Given the description of an element on the screen output the (x, y) to click on. 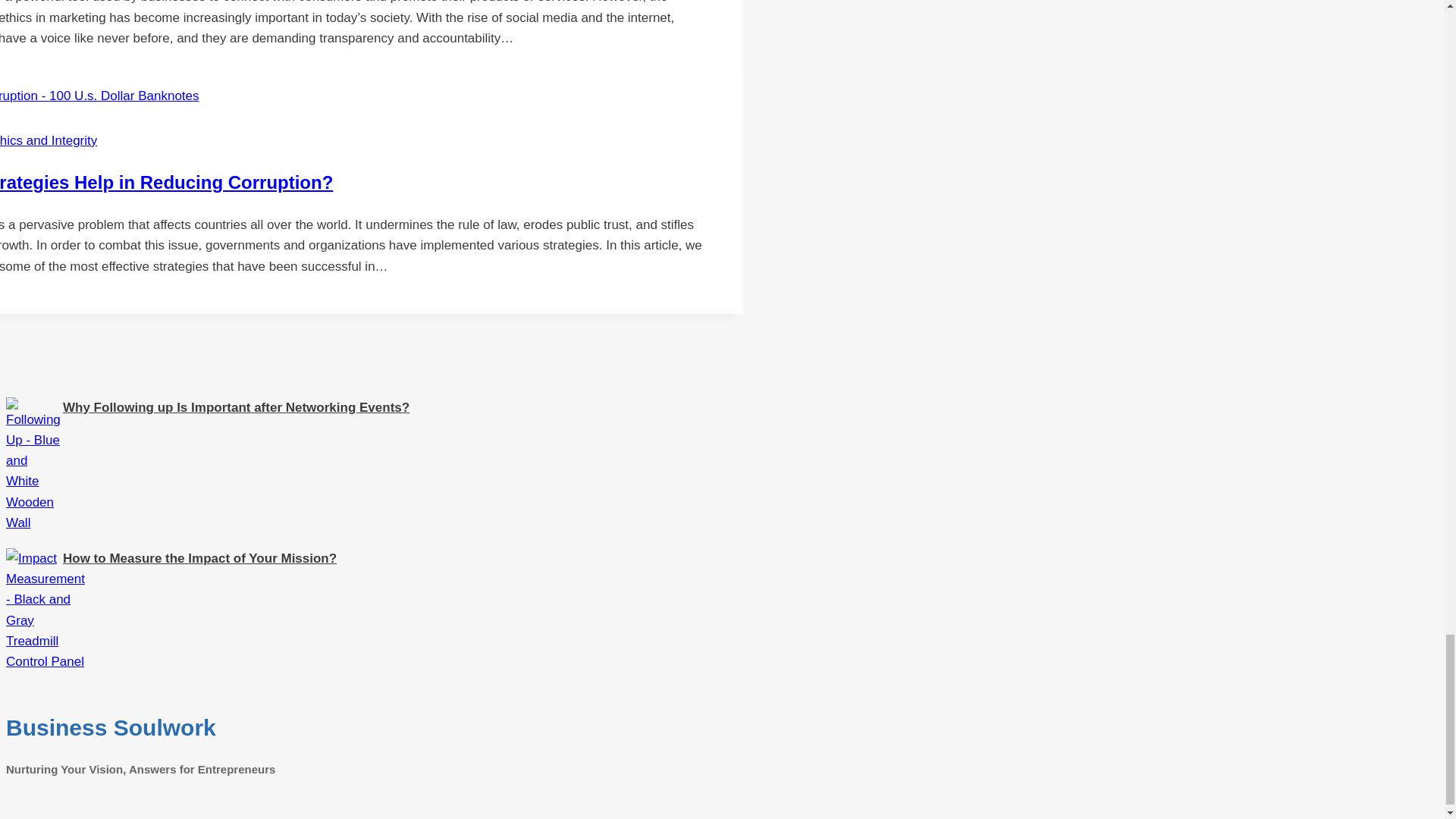
Why Following up Is Important after Networking Events? (33, 522)
Business Ethics and Integrity (48, 140)
What Strategies Help in Reducing Corruption? (166, 181)
How to Measure the Impact of Your Mission? (44, 661)
